Given the description of an element on the screen output the (x, y) to click on. 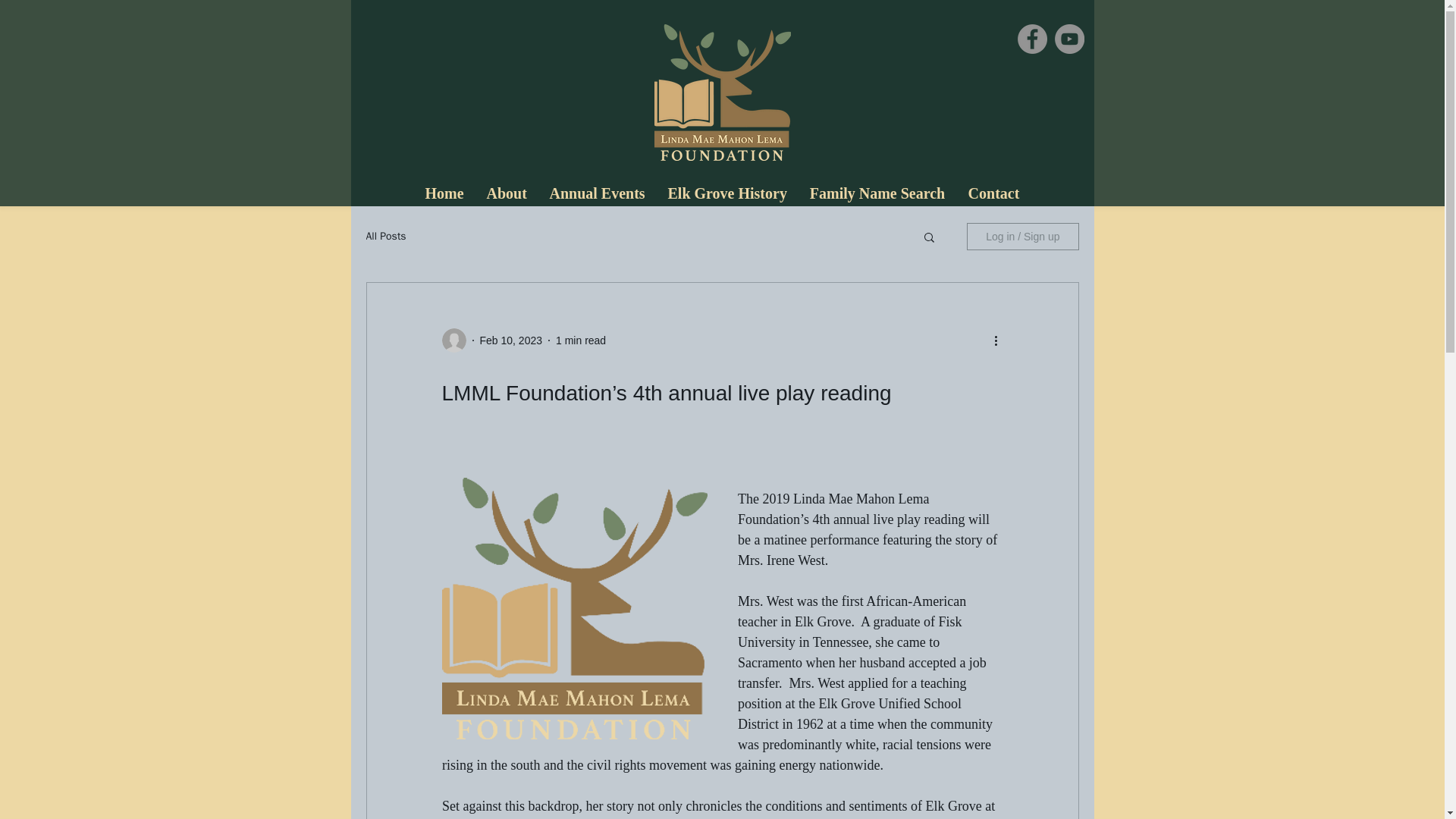
All Posts (385, 236)
History into the Future (721, 92)
Feb 10, 2023 (510, 339)
About (505, 193)
1 min read (580, 339)
Family Name Search (876, 193)
Home (444, 193)
Annual Events (597, 193)
Elk Grove History (726, 193)
Contact (993, 193)
